Given the description of an element on the screen output the (x, y) to click on. 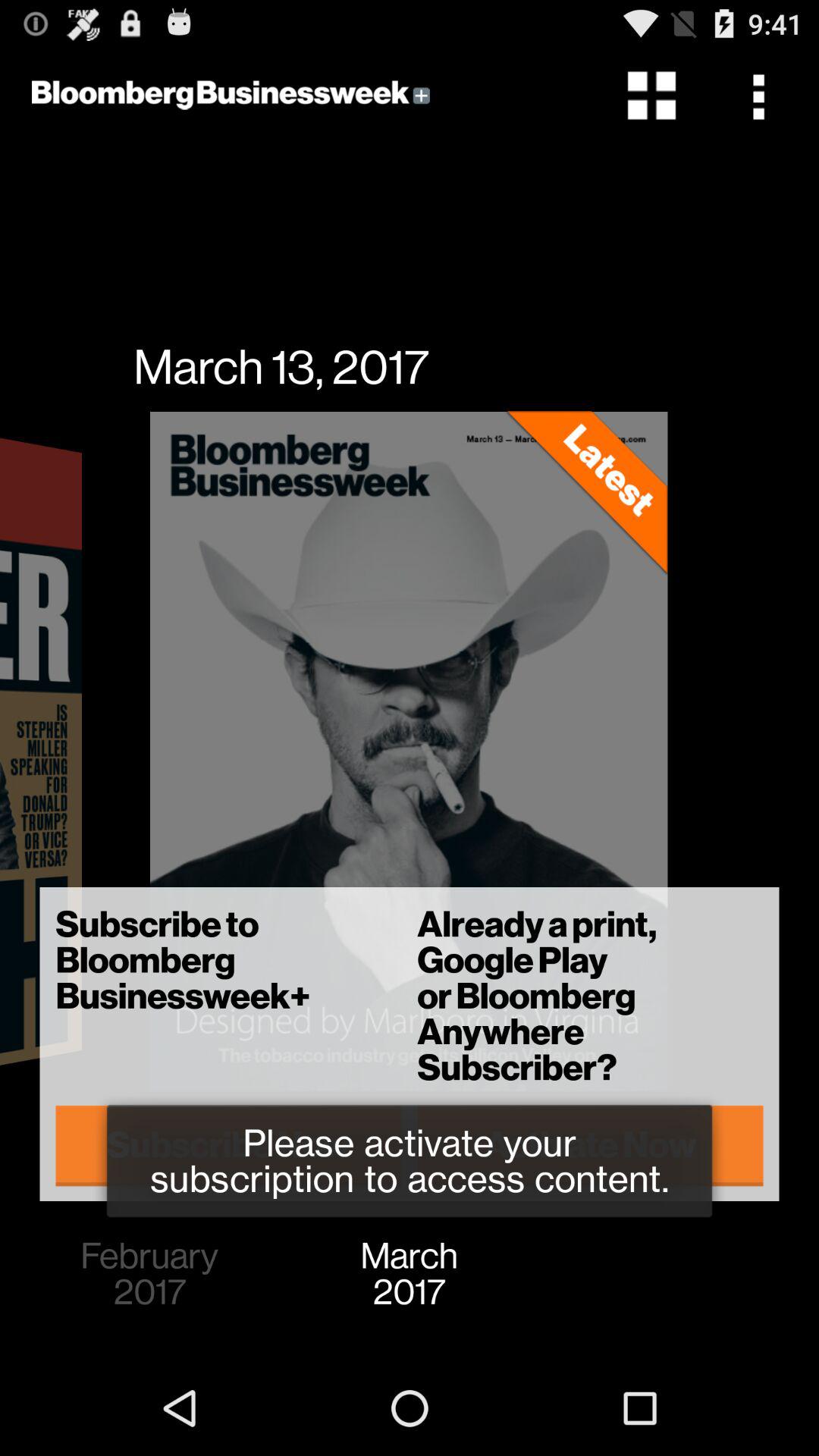
press the february
2017 icon (149, 1273)
